Given the description of an element on the screen output the (x, y) to click on. 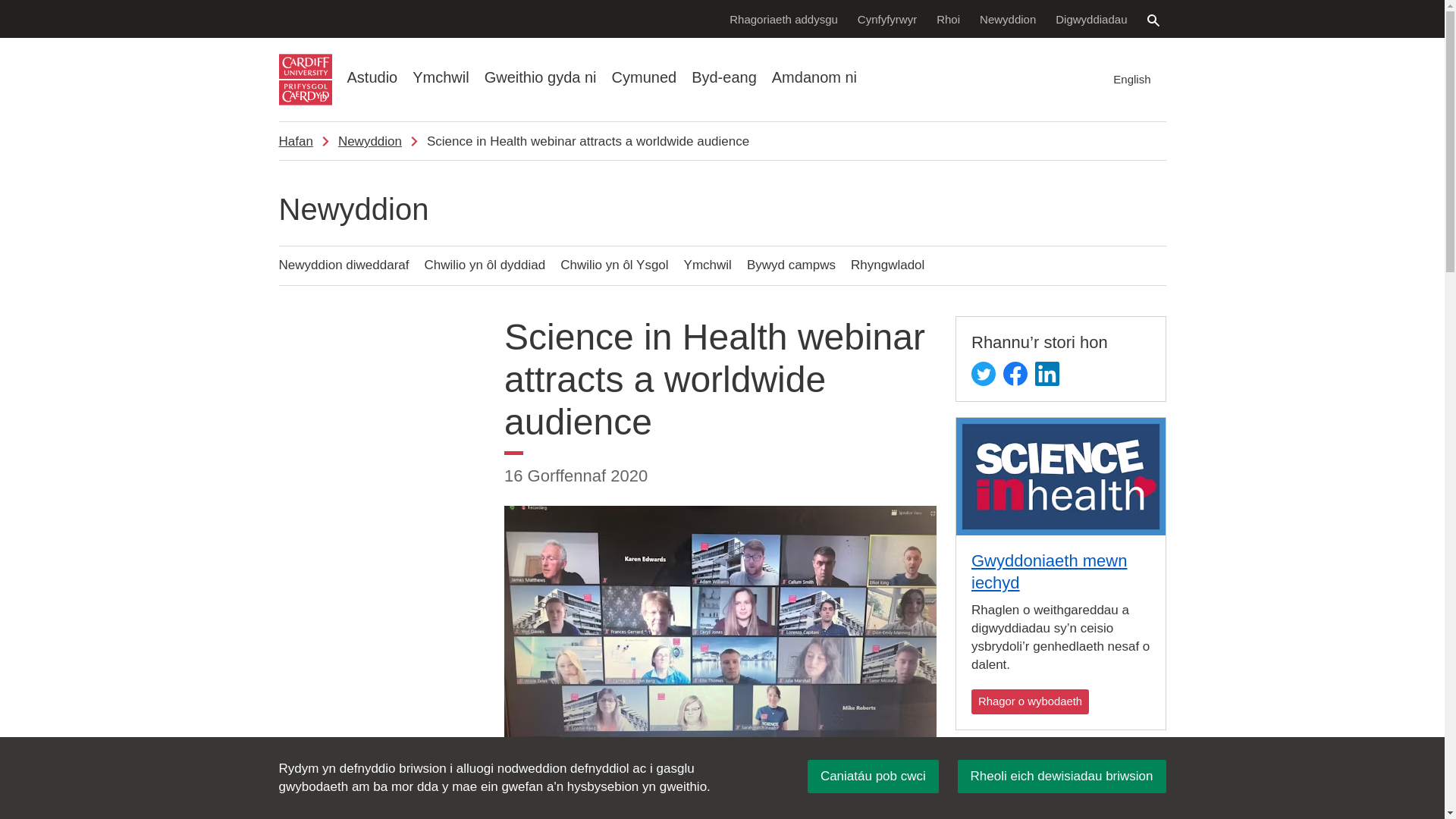
Astudio (372, 77)
Rhoi (948, 19)
Newyddion (1007, 19)
Search (1152, 20)
Rheoli eich dewisiadau briwsion (1062, 776)
Cardiff University logo (305, 79)
LinkedIn (1047, 373)
Digwyddiadau (1090, 19)
facebook (1015, 373)
Twitter (983, 373)
Cardiff University logo (305, 79)
Cynfyfyrwyr (887, 19)
Rhagoriaeth addysgu (783, 19)
